Given the description of an element on the screen output the (x, y) to click on. 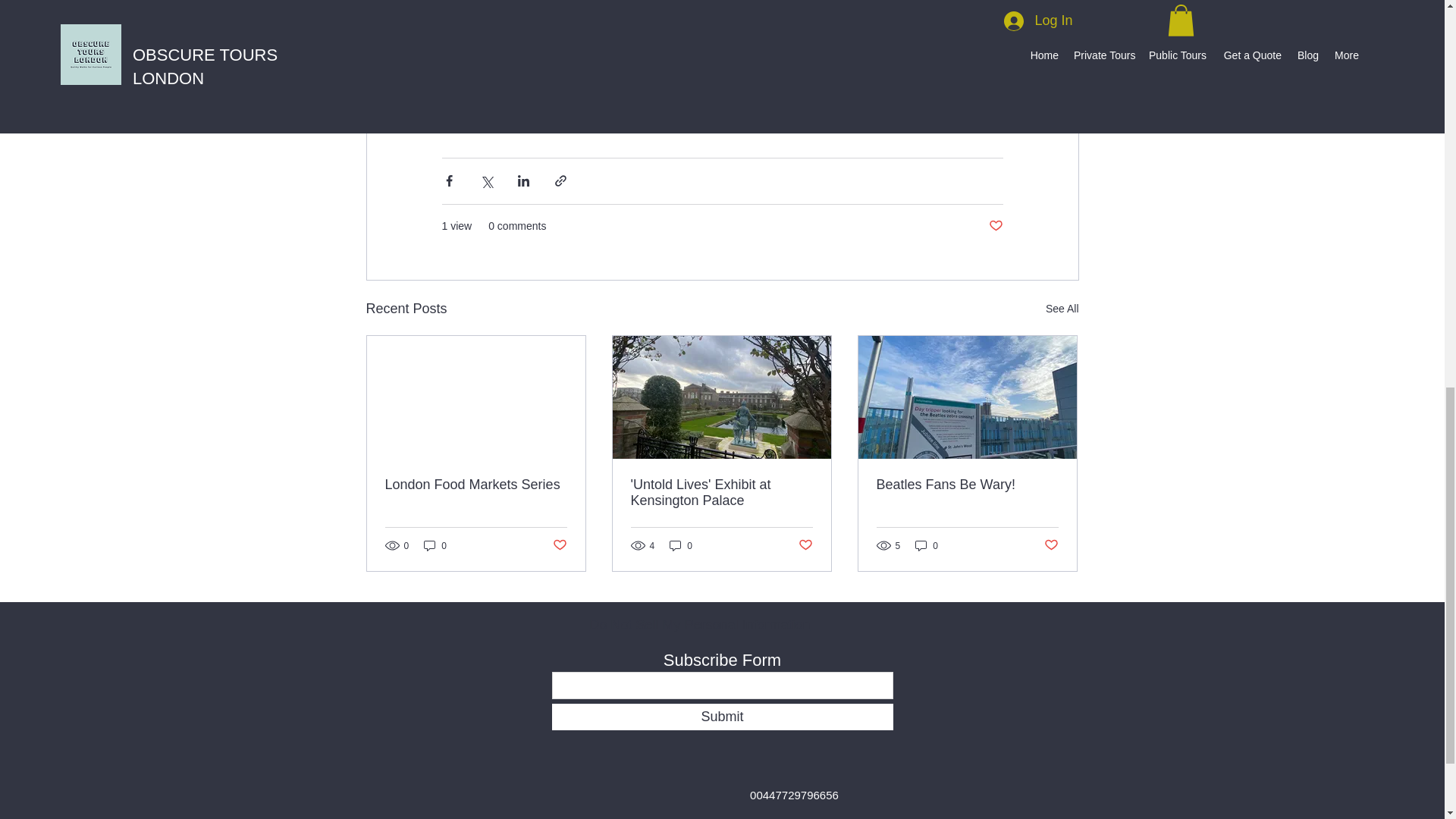
Beatles Fans Be Wary! (967, 484)
0 (926, 545)
Submit (722, 716)
Do Not Sell My Personal Information (699, 625)
0 (435, 545)
'Untold Lives' Exhibit at Kensington Palace (721, 492)
Post not marked as liked (995, 226)
Post not marked as liked (804, 545)
London Food Markets Series (476, 484)
0 (681, 545)
See All (1061, 309)
Post not marked as liked (1050, 545)
Post not marked as liked (558, 545)
